Given the description of an element on the screen output the (x, y) to click on. 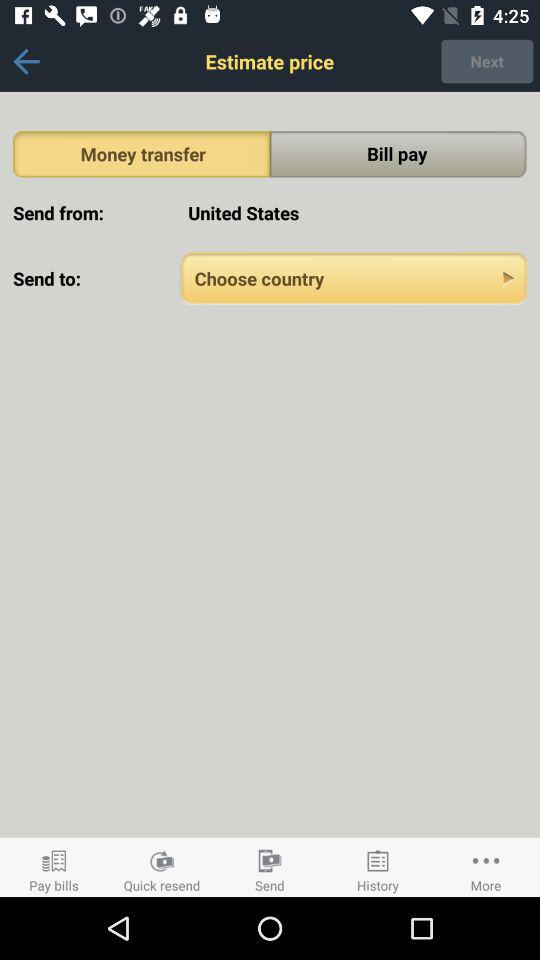
pick country option (353, 278)
